Given the description of an element on the screen output the (x, y) to click on. 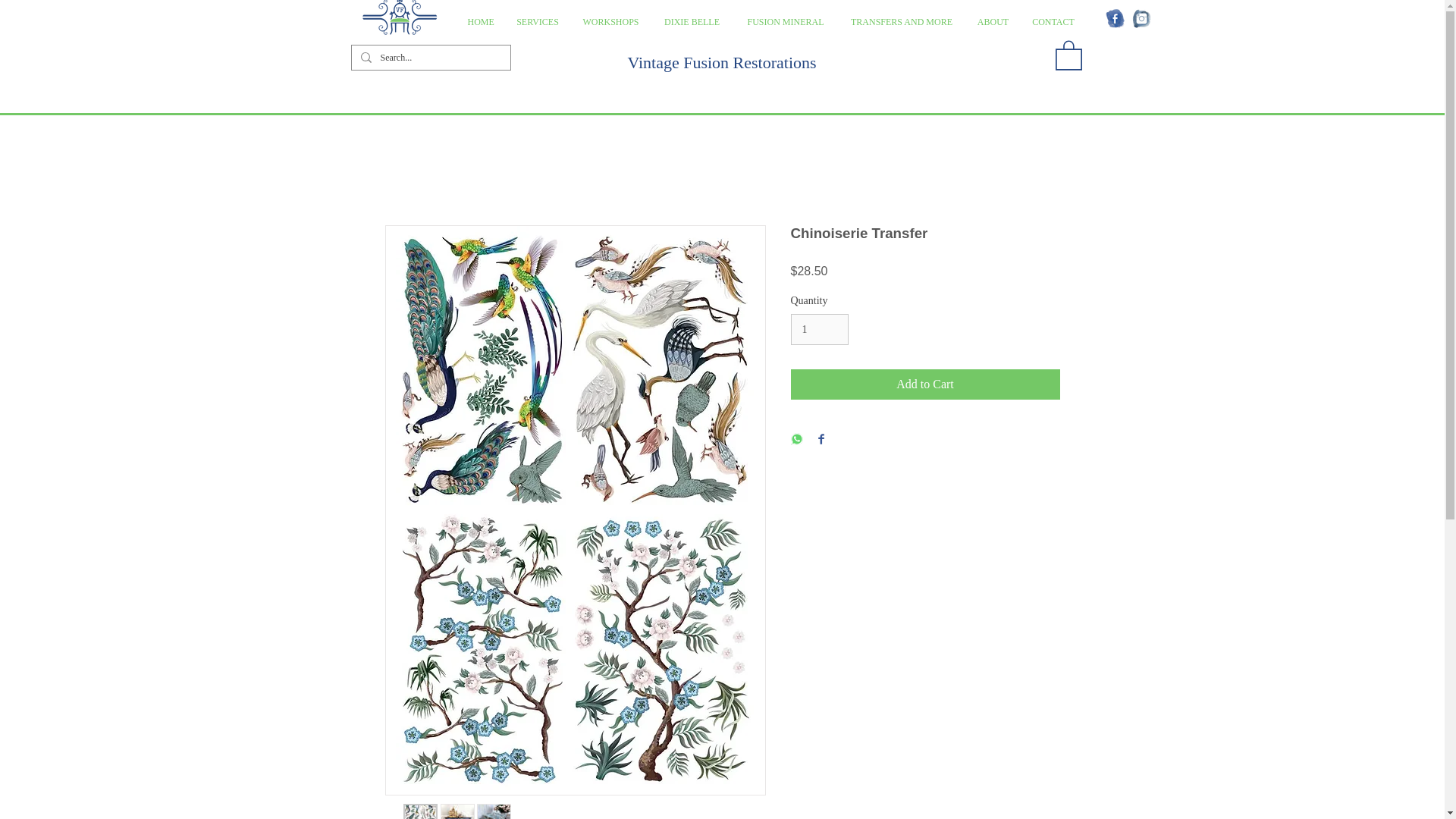
CONTACT (1053, 22)
FUSION MINERAL (785, 22)
Add to Cart (924, 384)
HOME (480, 22)
DIXIE BELLE (691, 22)
WORKSHOPS (611, 22)
ABOUT (993, 22)
SERVICES (536, 22)
1 (818, 328)
